Given the description of an element on the screen output the (x, y) to click on. 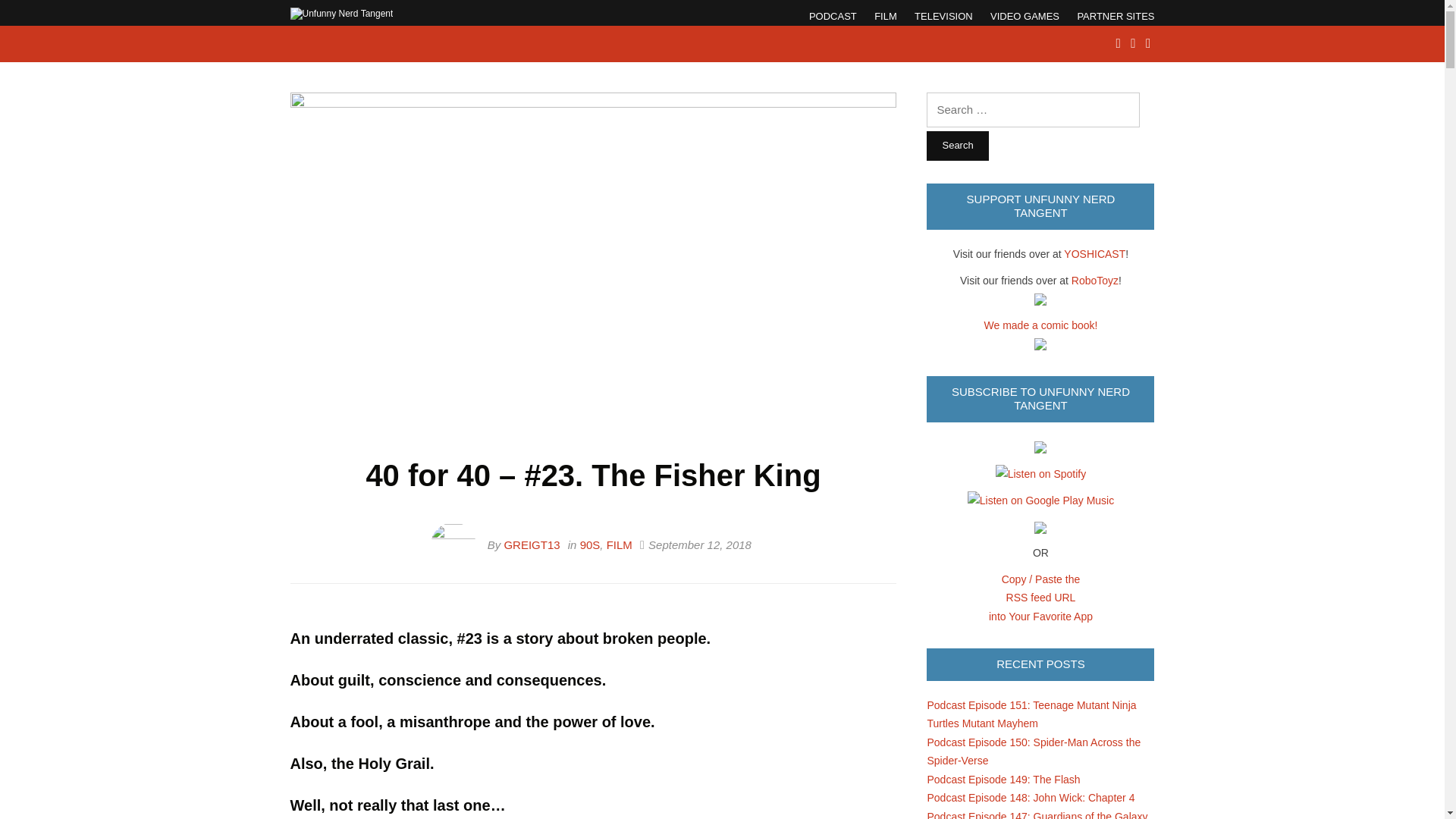
Search (957, 145)
Search (957, 145)
VIDEO GAMES (1024, 16)
TELEVISION (943, 16)
FILM (885, 16)
PODCAST (833, 16)
FILM (619, 544)
90S (589, 544)
PARTNER SITES (1115, 16)
Posts by GreigT13 (531, 544)
